Given the description of an element on the screen output the (x, y) to click on. 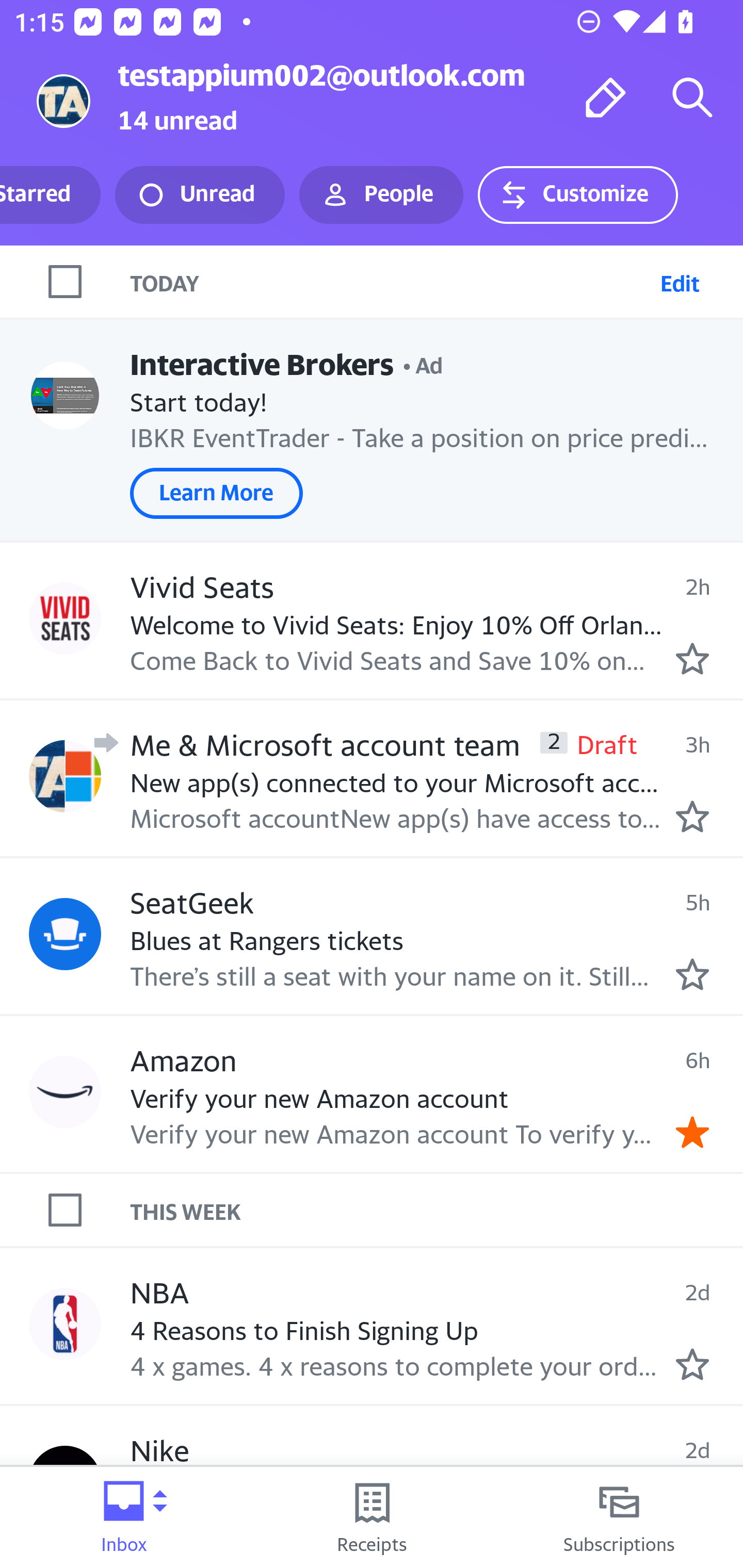
Compose (605, 97)
Search mail (692, 97)
Unread (199, 195)
People (381, 195)
Customize (577, 195)
TODAY (391, 281)
Edit Select emails (679, 281)
Profile
Vivid Seats (64, 617)
Mark as starred. (692, 659)
Profile
Me & Microsoft account team (64, 776)
Mark as starred. (692, 816)
Profile
SeatGeek (64, 934)
Mark as starred. (692, 974)
Profile
Amazon (64, 1091)
Remove star. (692, 1132)
THIS WEEK (436, 1209)
Profile
NBA (64, 1323)
Mark as starred. (692, 1364)
Inbox Folder picker (123, 1517)
Receipts (371, 1517)
Subscriptions (619, 1517)
